Given the description of an element on the screen output the (x, y) to click on. 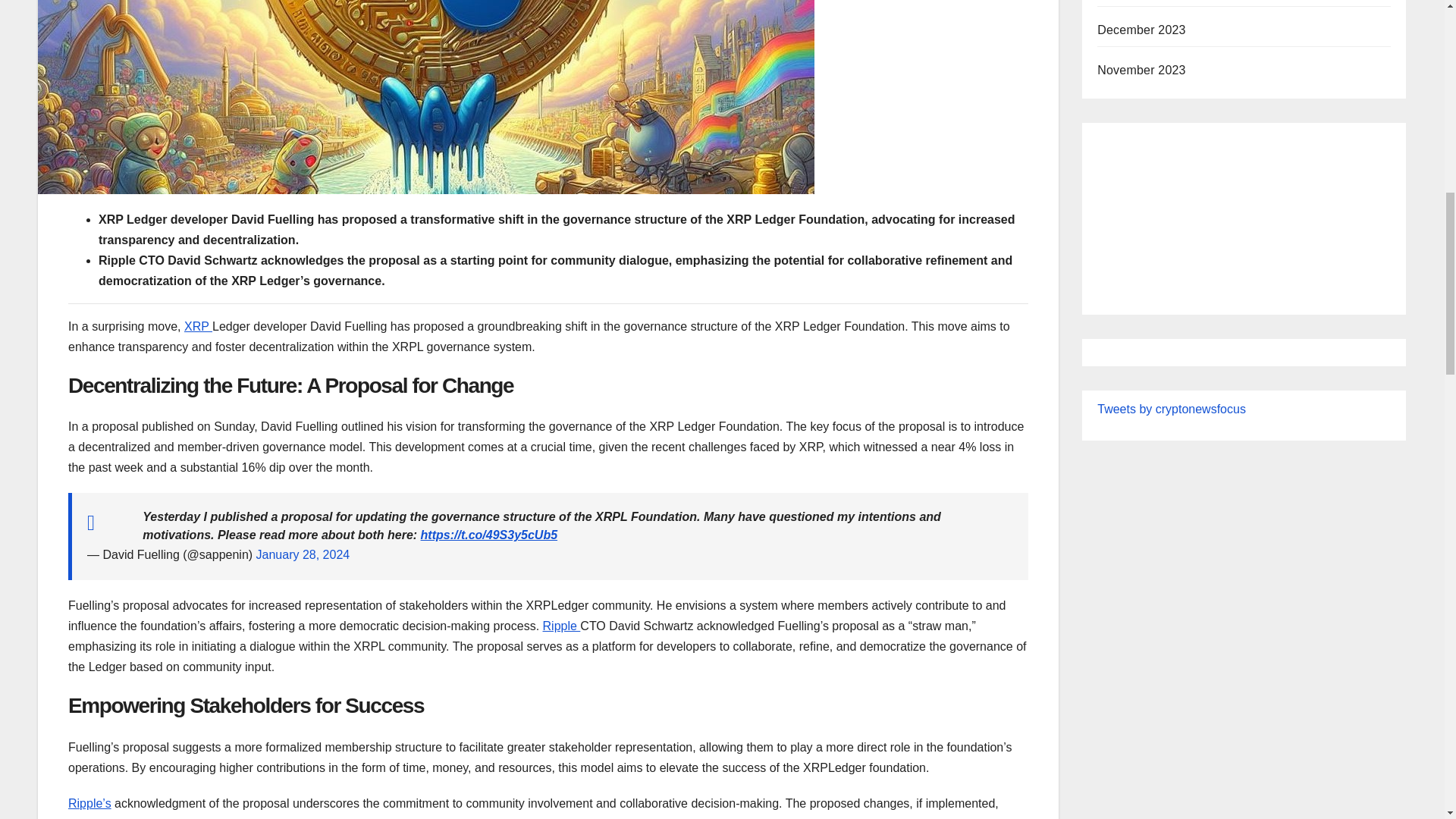
VeChain Charts its Own Course as Bitcoin Soars  Asset Spree (1243, 212)
Ripple (561, 625)
January 28, 2024 (303, 554)
XRP (198, 326)
